Given the description of an element on the screen output the (x, y) to click on. 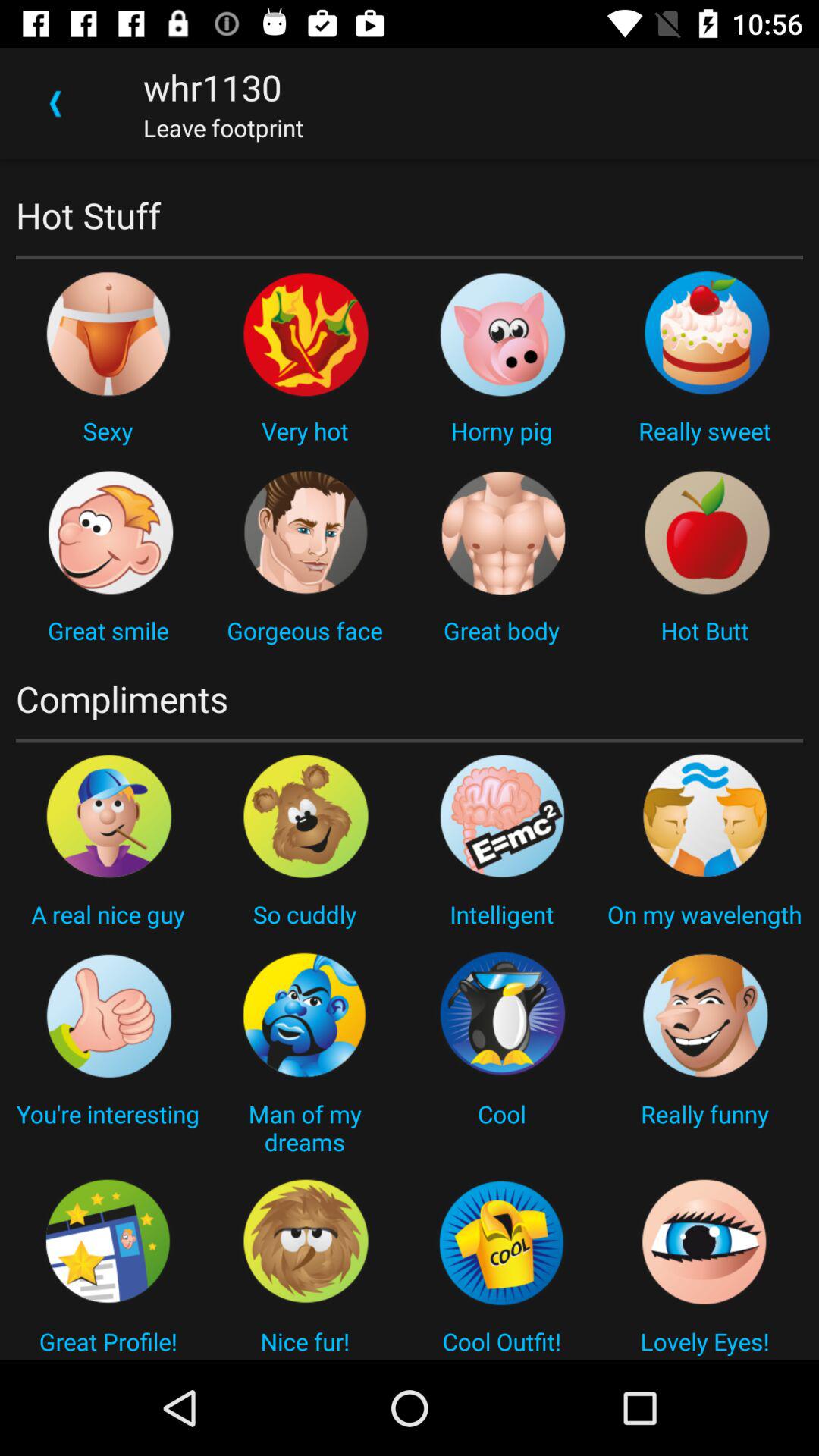
choose icon above the hot stuff icon (55, 103)
